Given the description of an element on the screen output the (x, y) to click on. 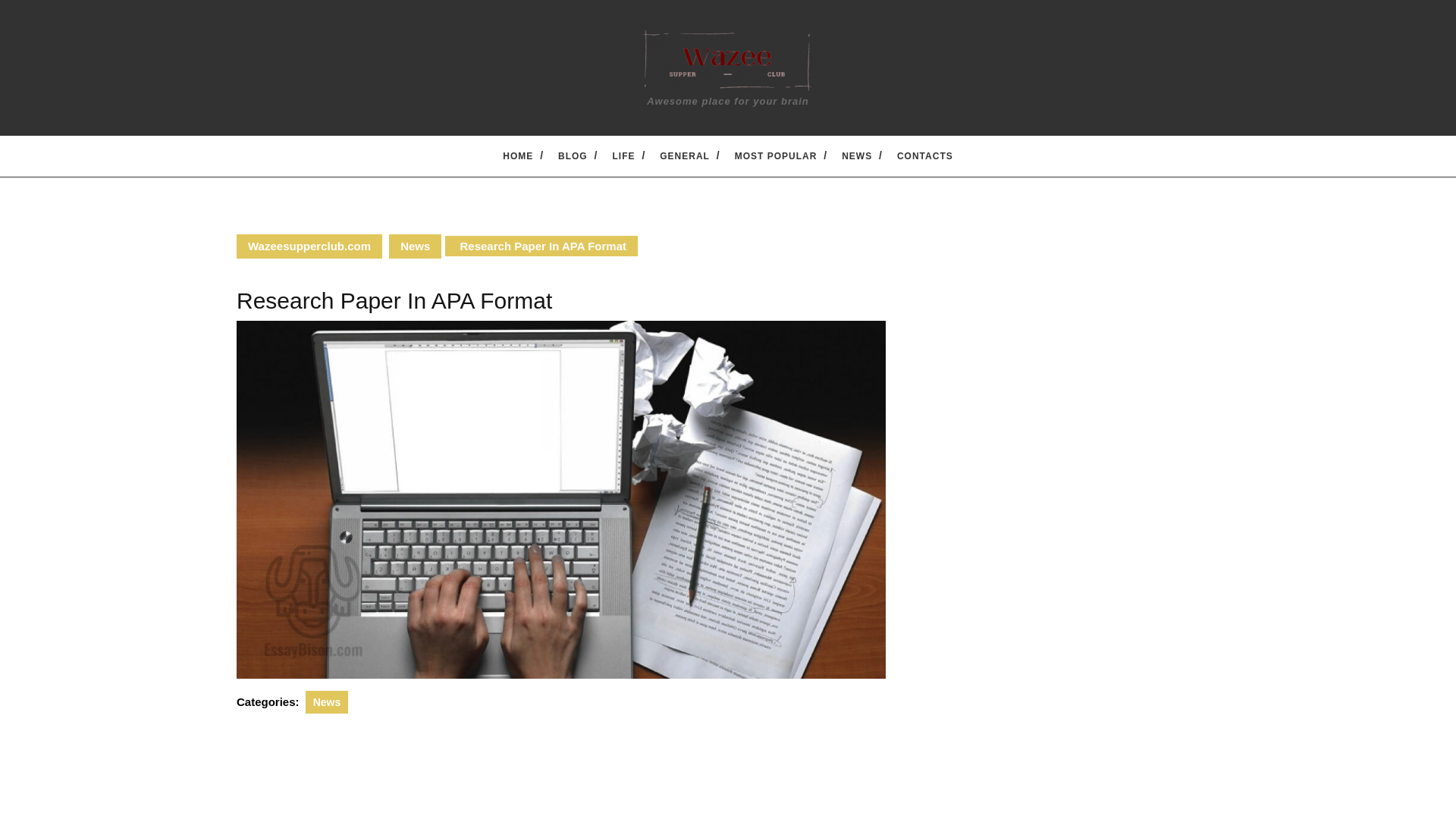
HOME (518, 155)
GENERAL (684, 155)
News (327, 702)
Wazeesupperclub.com (308, 245)
NEWS (857, 155)
News (414, 245)
CONTACTS (924, 155)
BLOG (572, 155)
MOST POPULAR (775, 155)
